Given the description of an element on the screen output the (x, y) to click on. 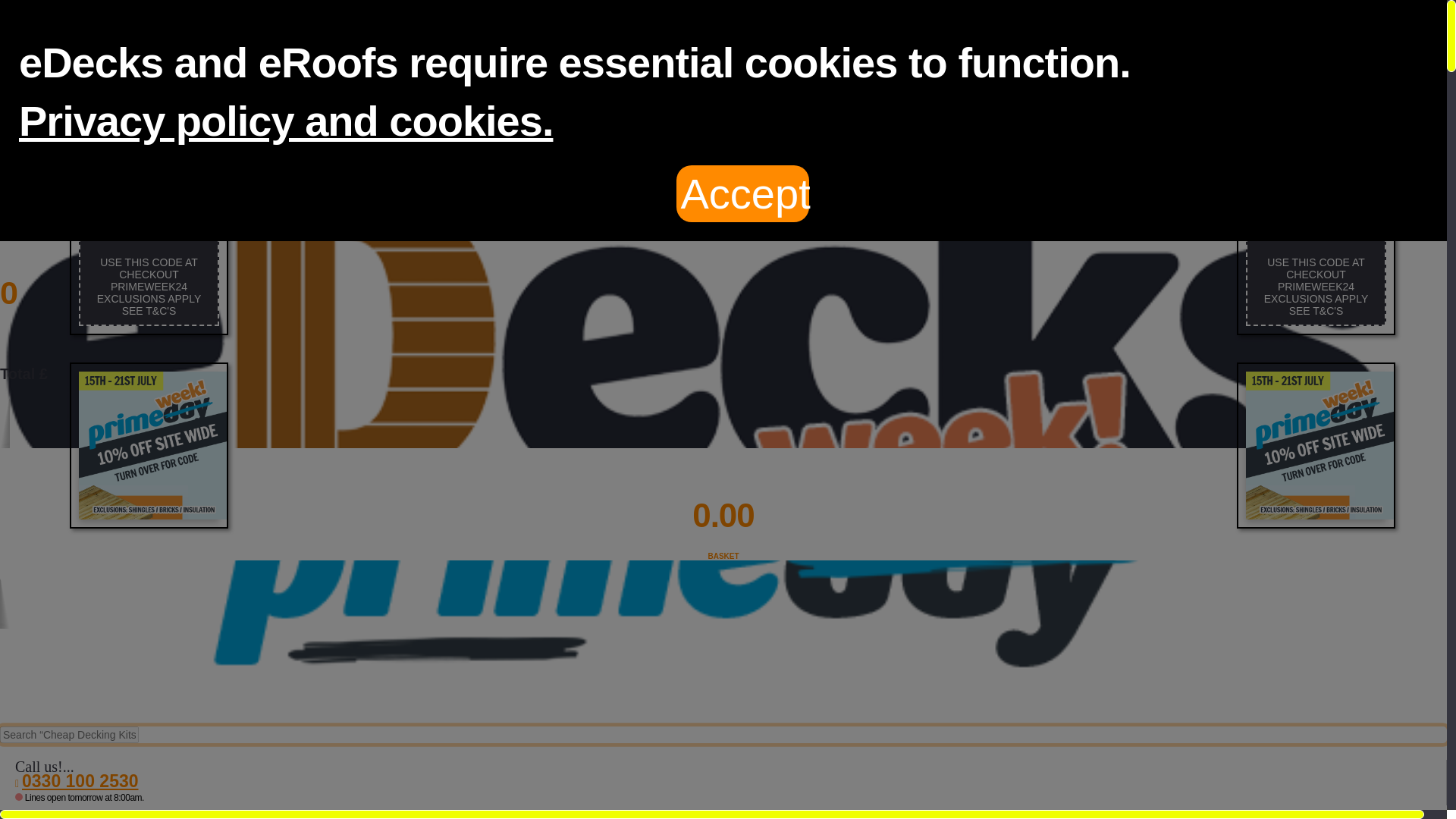
0330 100 2530 (723, 524)
